Given the description of an element on the screen output the (x, y) to click on. 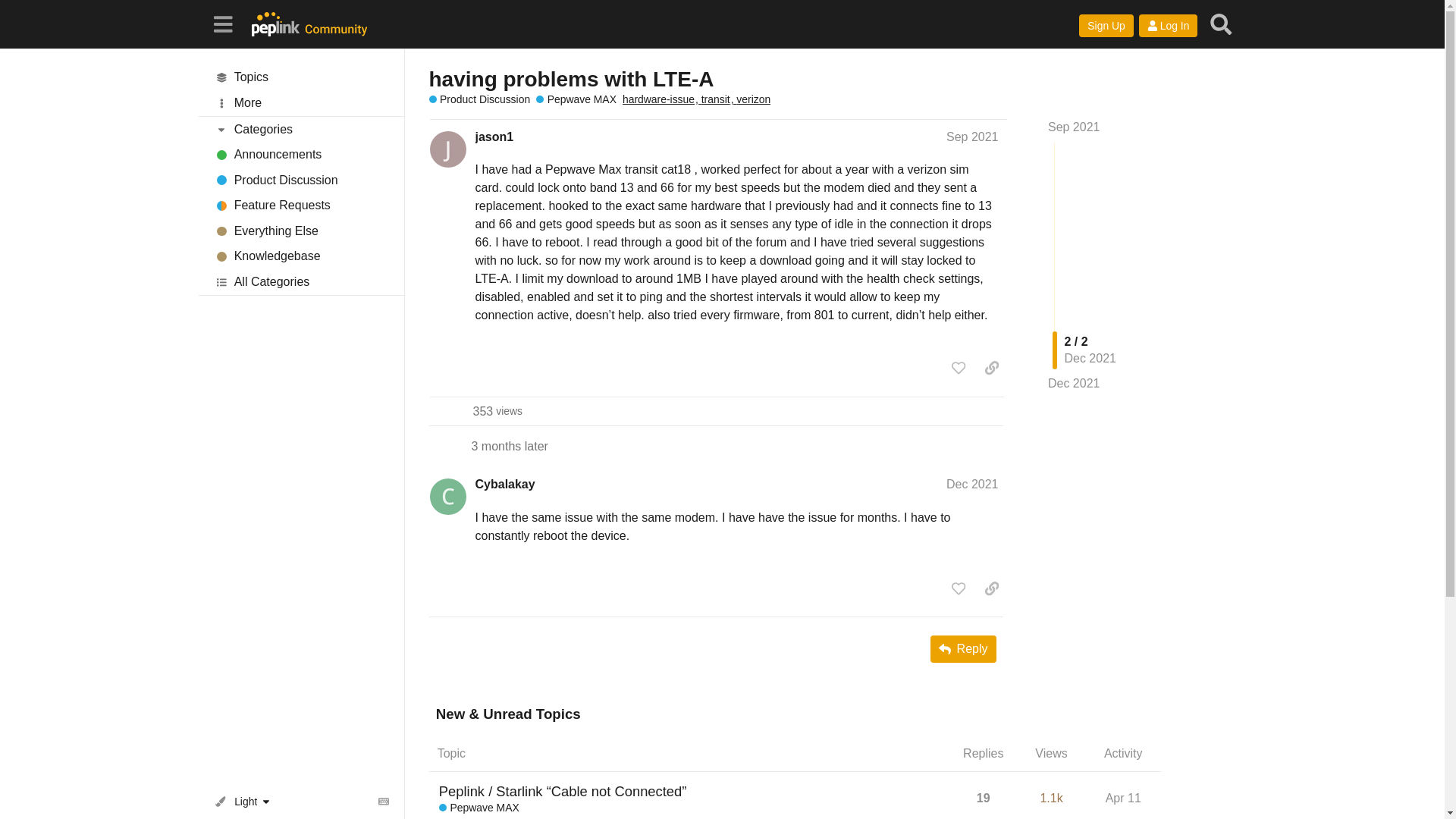
Feature Requests (301, 206)
Categories (301, 129)
Announcements (301, 154)
Catch exciting news that we have to share with you. (301, 154)
Pepwave MAX (575, 99)
having problems with LTE-A (571, 78)
jason1 (493, 136)
Dec 2021 (1074, 383)
Sign Up (1105, 25)
